Given the description of an element on the screen output the (x, y) to click on. 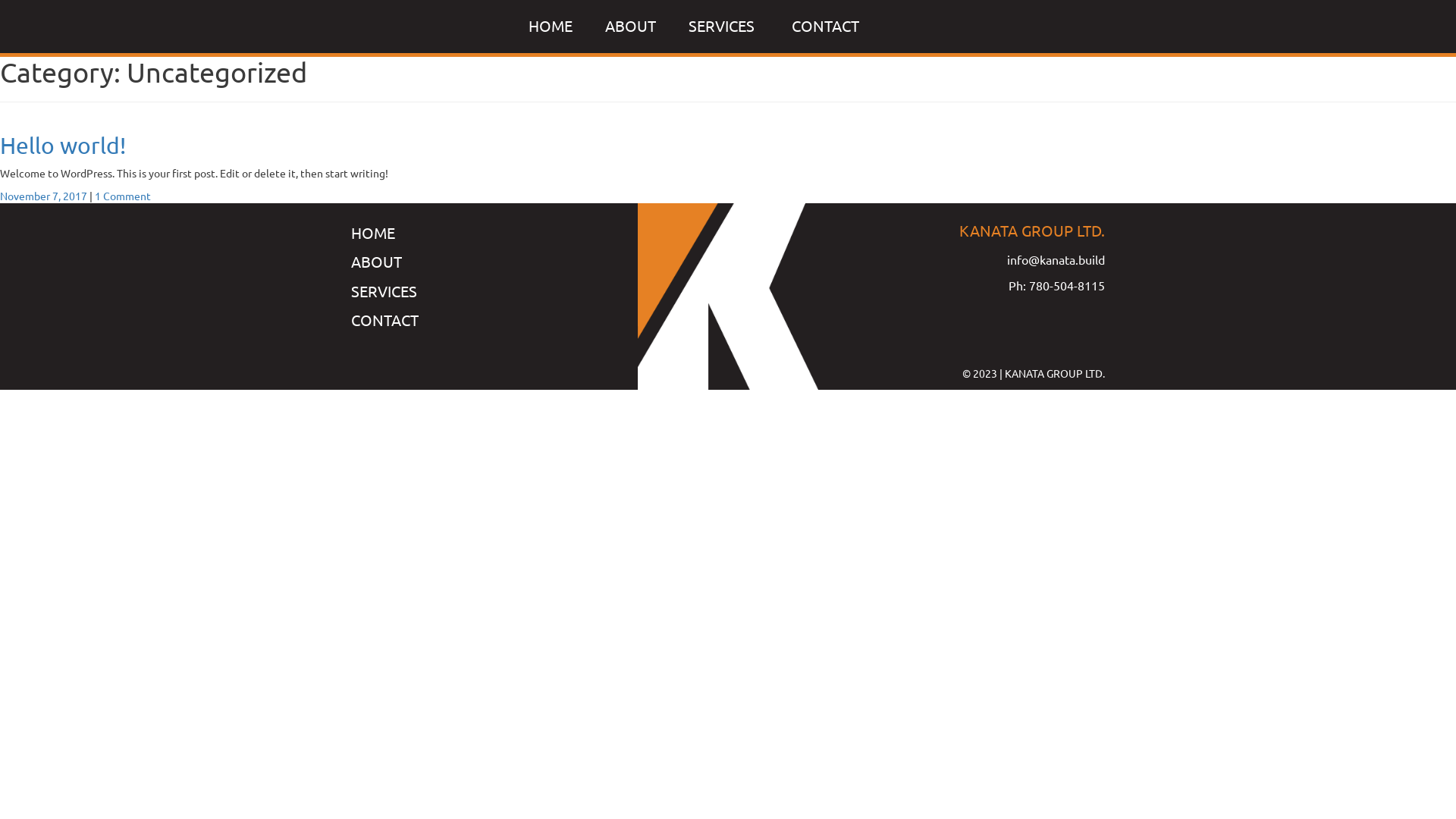
November 7, 2017 Element type: text (43, 195)
HOME Element type: text (373, 231)
1 Comment
on Hello world! Element type: text (122, 195)
SERVICES Element type: text (384, 290)
Hello world! Element type: text (62, 144)
CONTACT Element type: text (825, 25)
HOME Element type: text (550, 25)
CONTACT Element type: text (384, 319)
SERVICES Element type: text (723, 25)
info@kanata.build Element type: text (1055, 258)
ABOUT Element type: text (630, 25)
ABOUT Element type: text (376, 260)
